Given the description of an element on the screen output the (x, y) to click on. 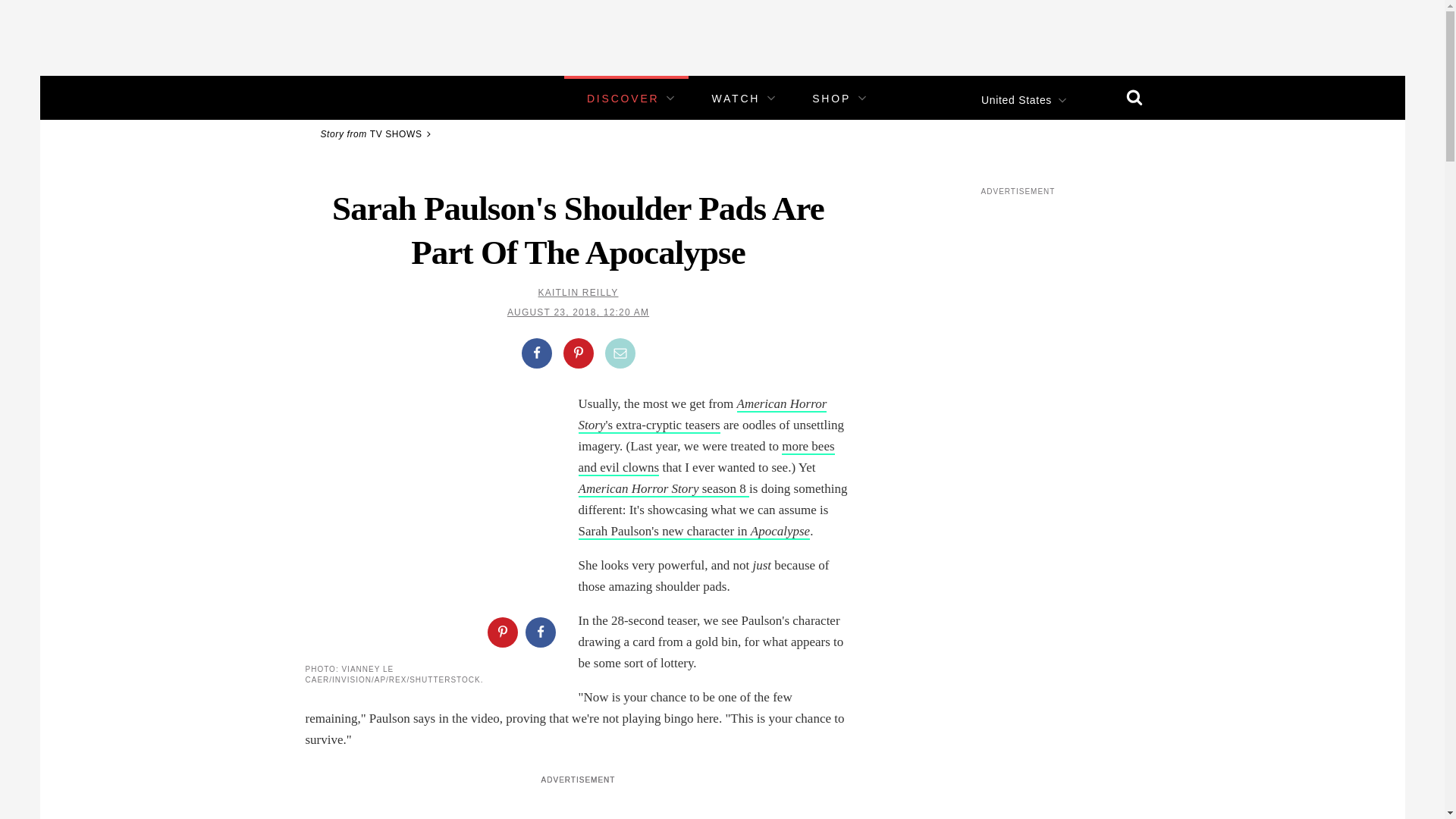
SHOP (831, 98)
Share by Email (619, 353)
Share on Pinterest (577, 353)
DISCOVER (622, 98)
Refinery29 (352, 97)
American Horror Story season 8 (663, 489)
WATCH (735, 98)
American Horror Story's extra-cryptic teasers (702, 415)
AUGUST 23, 2018, 12:20 AM (577, 312)
Sarah Paulson's new character in Apocalypse (693, 531)
